Given the description of an element on the screen output the (x, y) to click on. 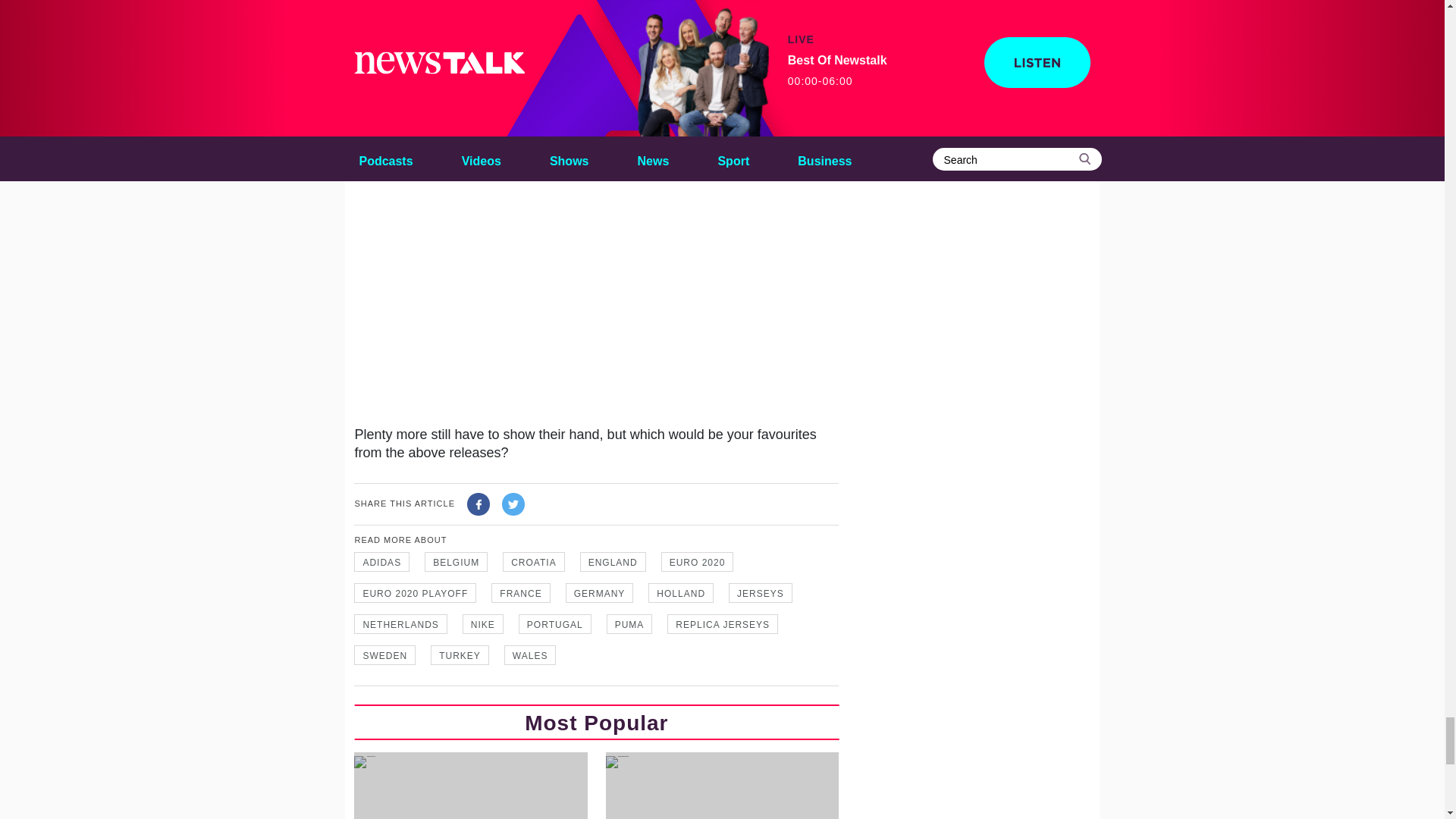
BELGIUM (456, 561)
CROATIA (533, 561)
ENGLAND (612, 561)
EURO 2020 PLAYOFF (414, 592)
ADIDAS (381, 561)
EURO 2020 (697, 561)
